Given the description of an element on the screen output the (x, y) to click on. 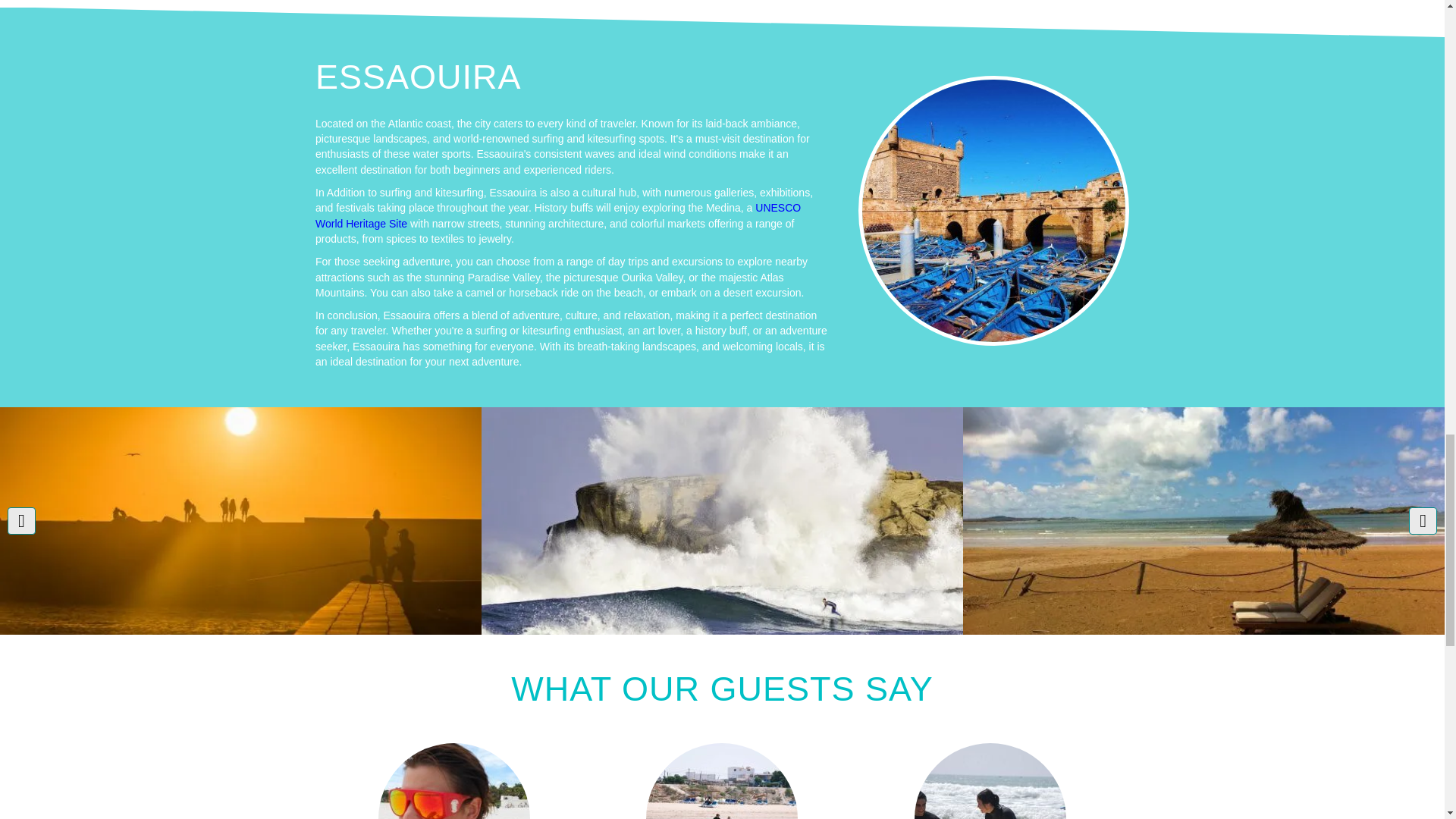
Surfari Essaouira Morocco (453, 780)
Surfari Essaouira Morocco (994, 211)
Surfari Essaouira Morocco (721, 780)
Surfari Essaouira Morocco (989, 780)
UNESCO World Heritage Site (557, 215)
